Given the description of an element on the screen output the (x, y) to click on. 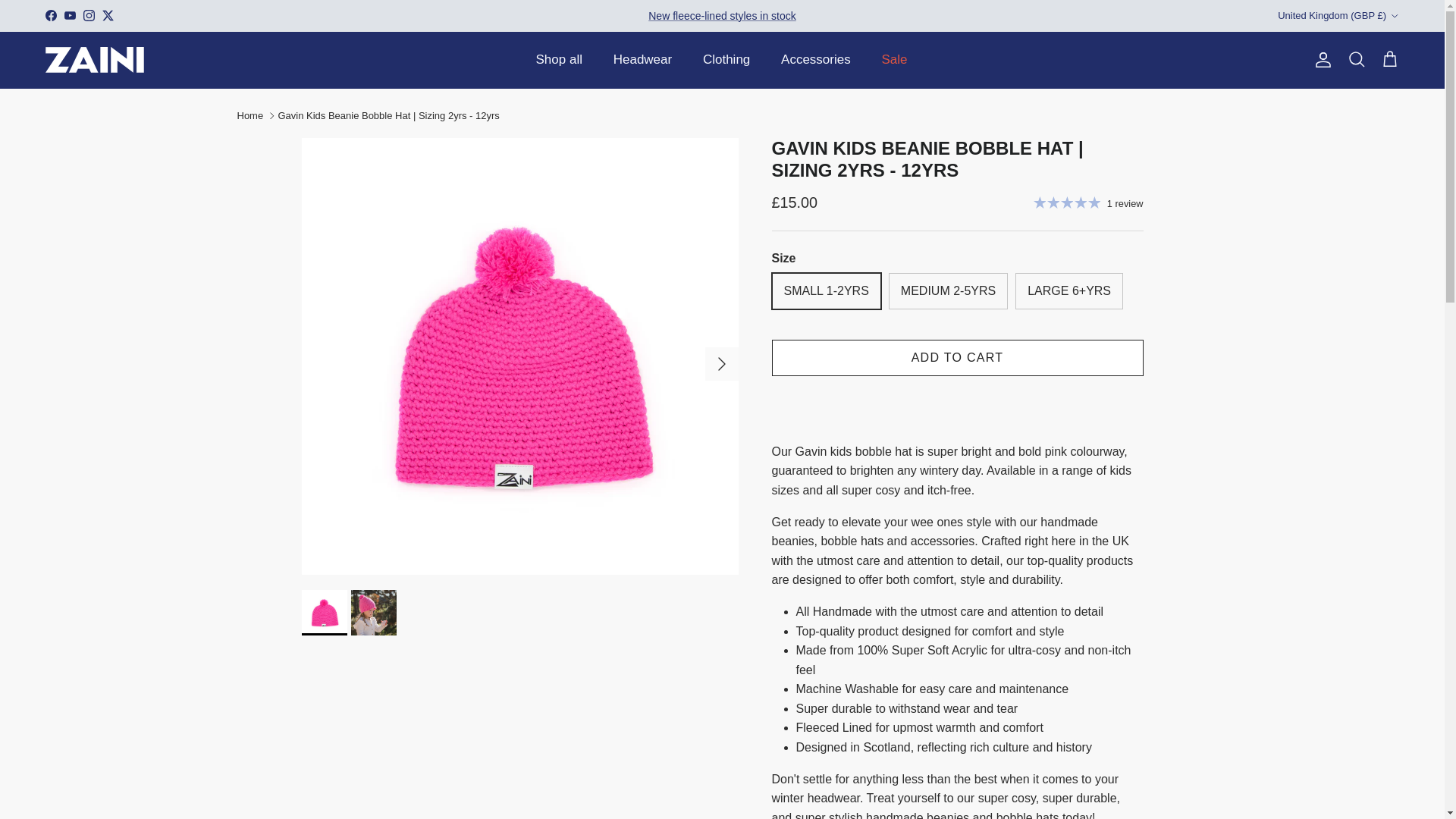
Fleece Lined Beanies (721, 15)
Clothing (725, 59)
Shop all (558, 59)
Search (1356, 59)
YouTube (69, 15)
New fleece-lined styles in stock (721, 15)
Instagram (88, 15)
Zaini Hats (94, 59)
Cart (1389, 59)
Zaini Hats on YouTube (69, 15)
